Given the description of an element on the screen output the (x, y) to click on. 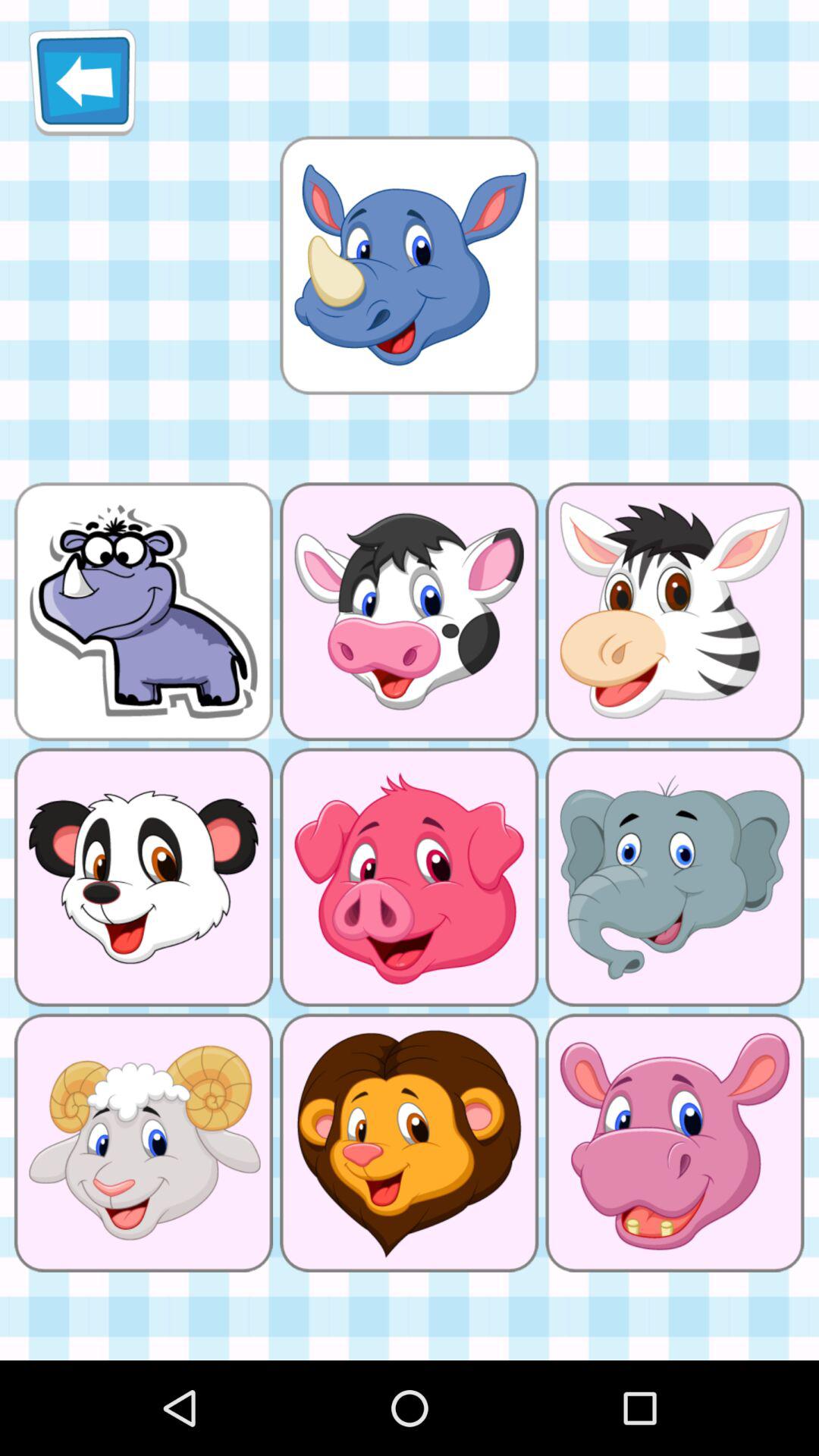
go back a page (82, 82)
